Given the description of an element on the screen output the (x, y) to click on. 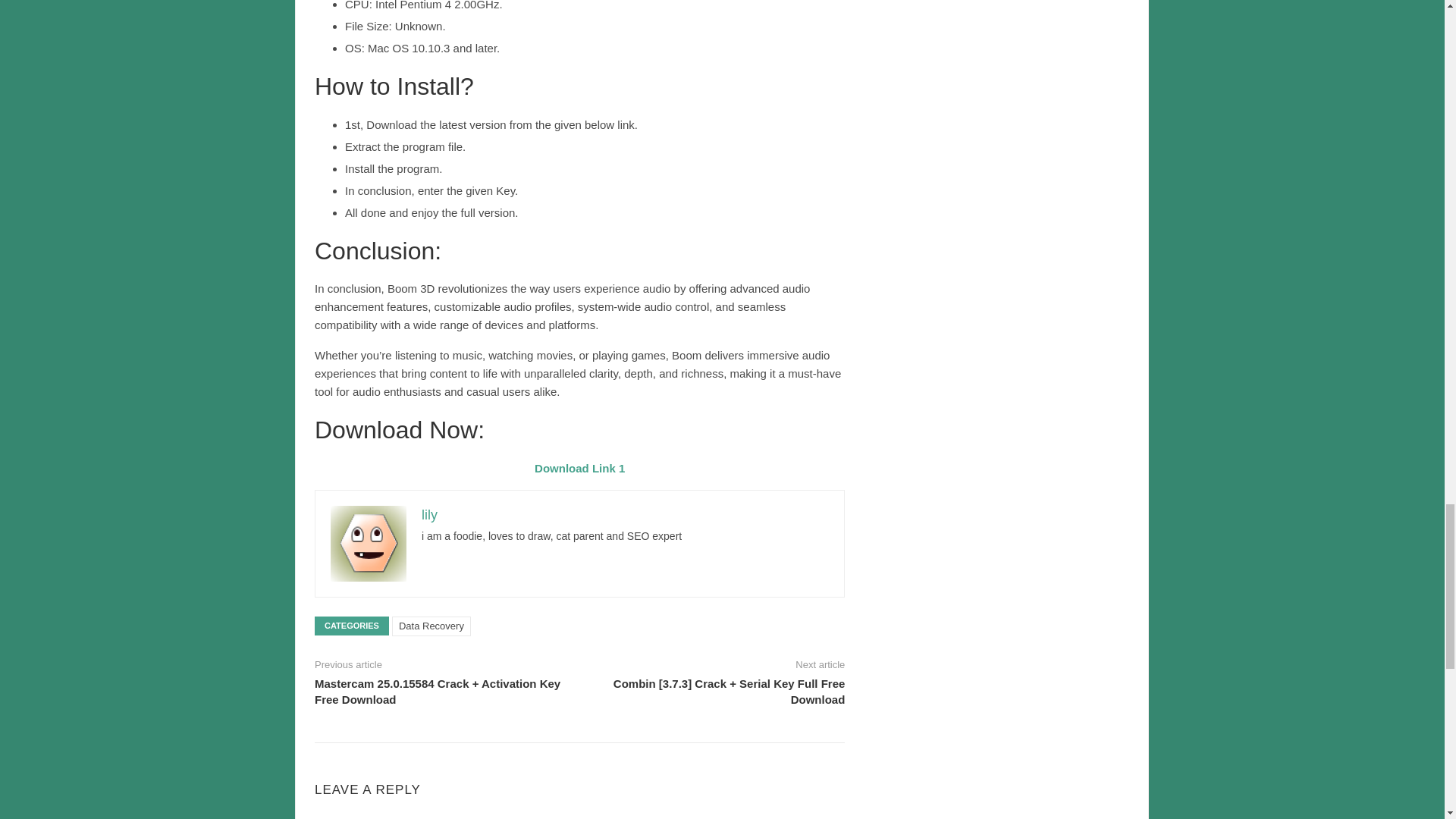
lily (430, 514)
Download Link 1 (579, 468)
Data Recovery (430, 626)
